Given the description of an element on the screen output the (x, y) to click on. 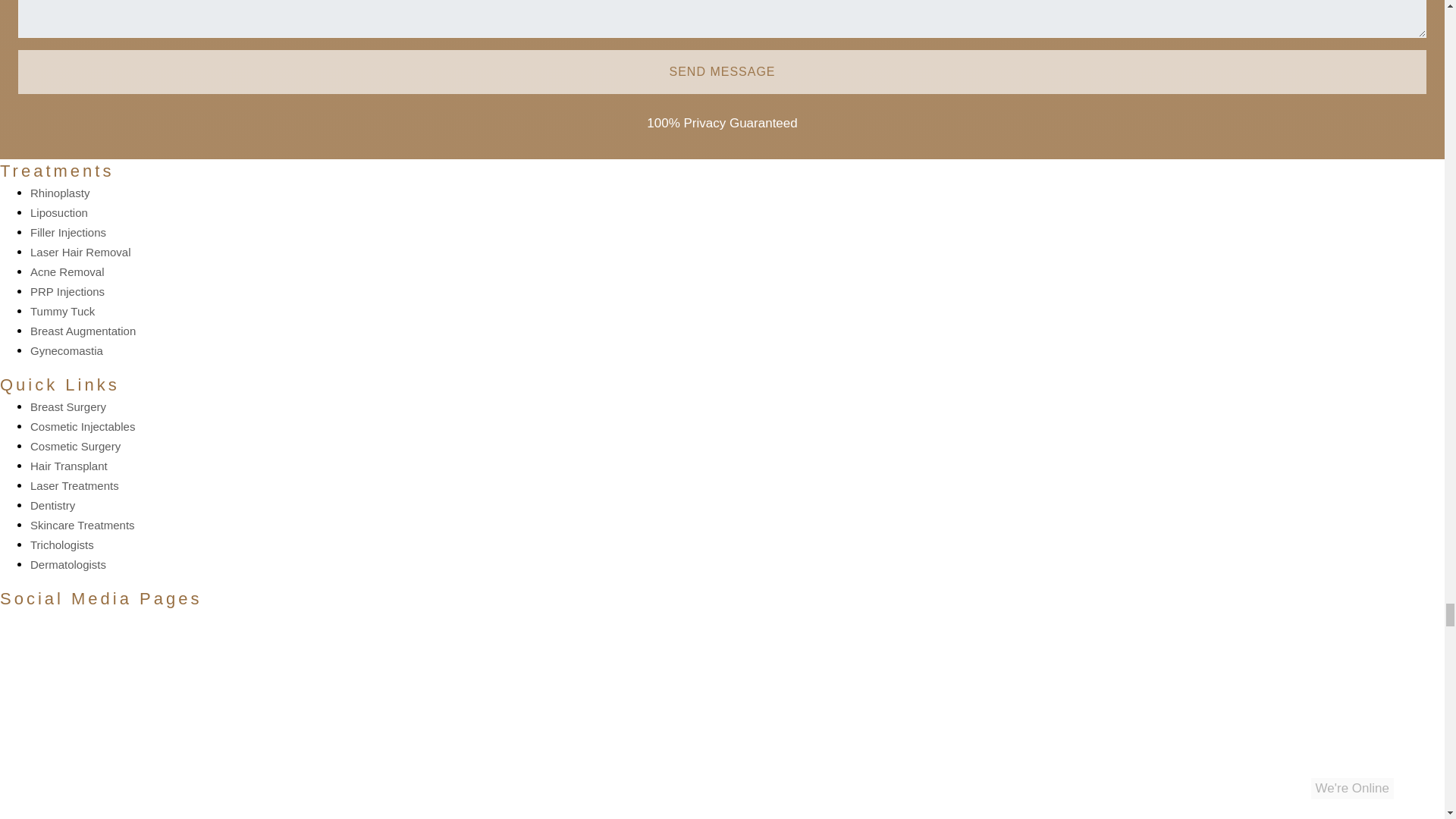
Send message (721, 71)
